Given the description of an element on the screen output the (x, y) to click on. 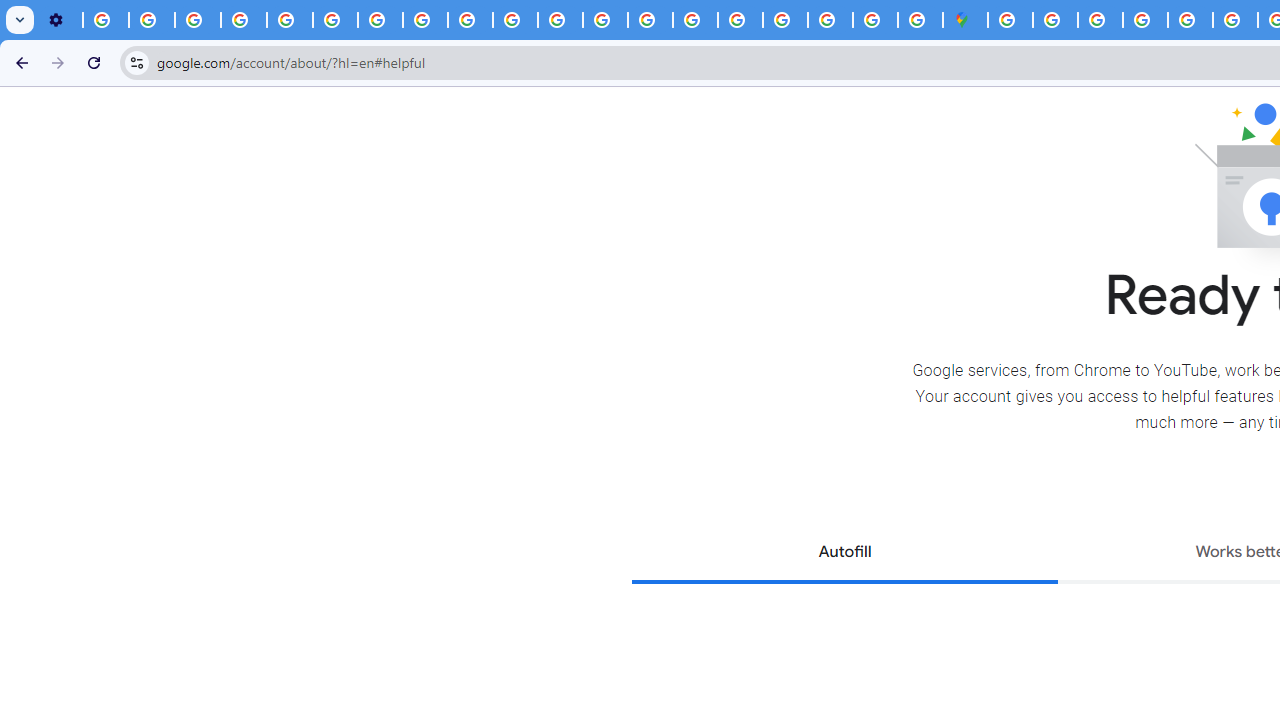
Google Account Help (244, 20)
Learn how to find your photos - Google Photos Help (152, 20)
